Given the description of an element on the screen output the (x, y) to click on. 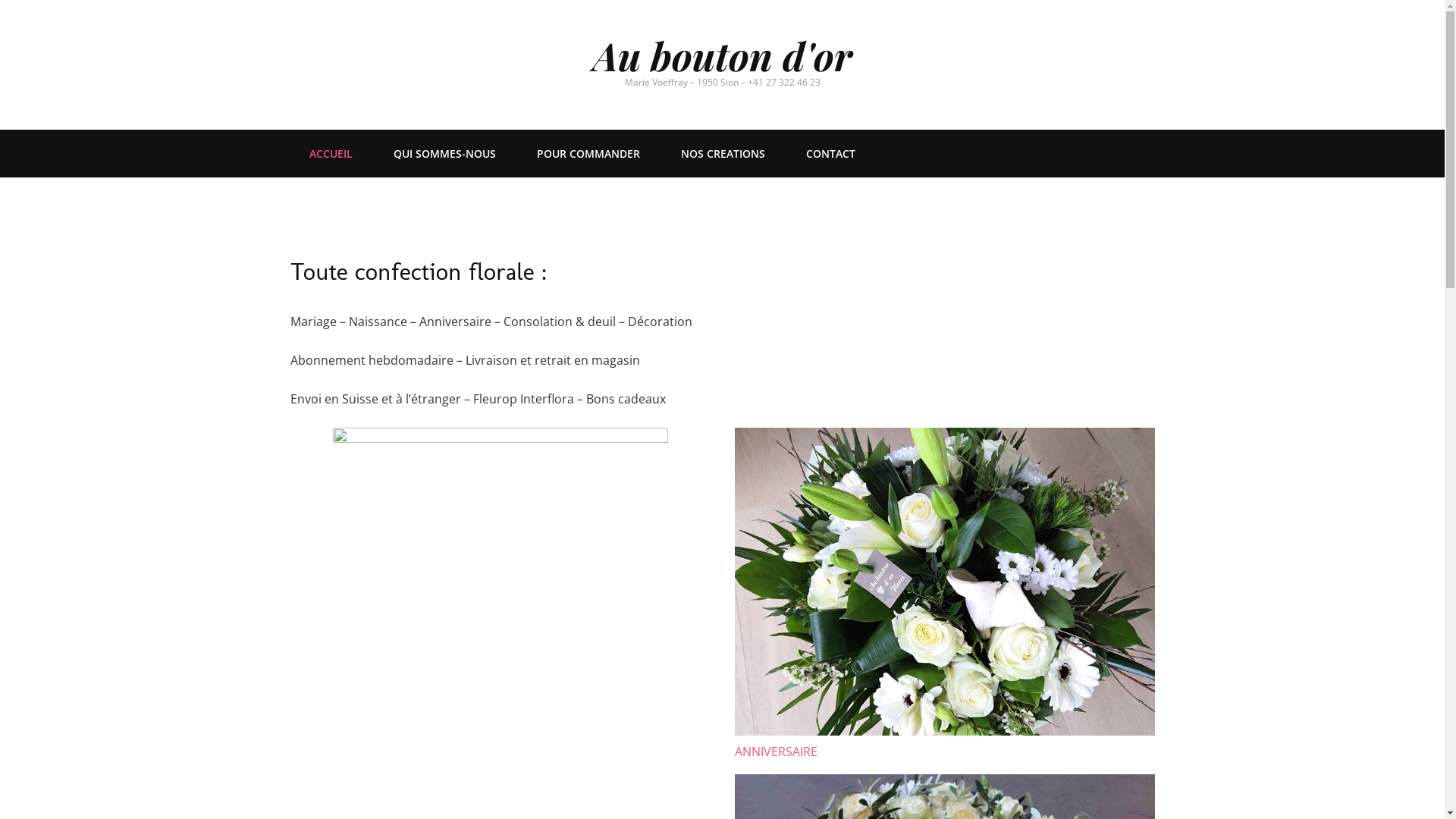
QUI SOMMES-NOUS Element type: text (443, 154)
ACCUEIL Element type: text (330, 154)
ANNIVERSAIRE Element type: text (775, 751)
CONTACT Element type: text (829, 154)
POUR COMMANDER Element type: text (588, 154)
NOS CREATIONS Element type: text (722, 154)
Au bouton d'or Element type: text (722, 55)
